Given the description of an element on the screen output the (x, y) to click on. 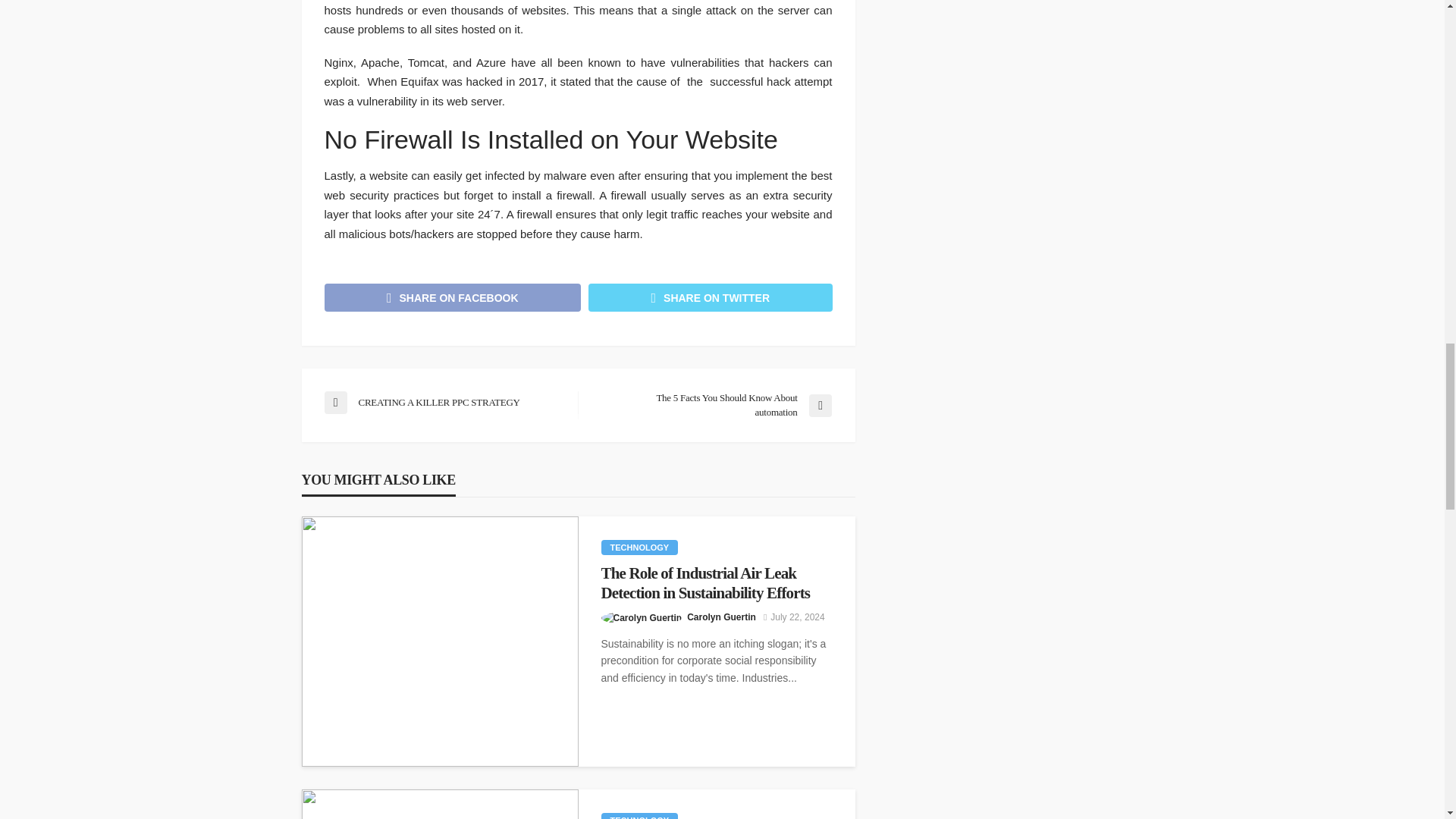
Top Three Signs of Clogged Sewer Lines (439, 804)
The 5 Facts You Should Know About automation (711, 404)
TECHNOLOGY (638, 547)
Technology (638, 816)
TECHNOLOGY (638, 816)
The 5 Facts You Should Know About automation (711, 404)
Carolyn Guertin (721, 616)
CREATING A KILLER PPC STRATEGY (443, 402)
Technology (638, 547)
SHARE ON TWITTER (709, 297)
CREATING A KILLER PPC STRATEGY (443, 402)
SHARE ON FACEBOOK (452, 297)
